Given the description of an element on the screen output the (x, y) to click on. 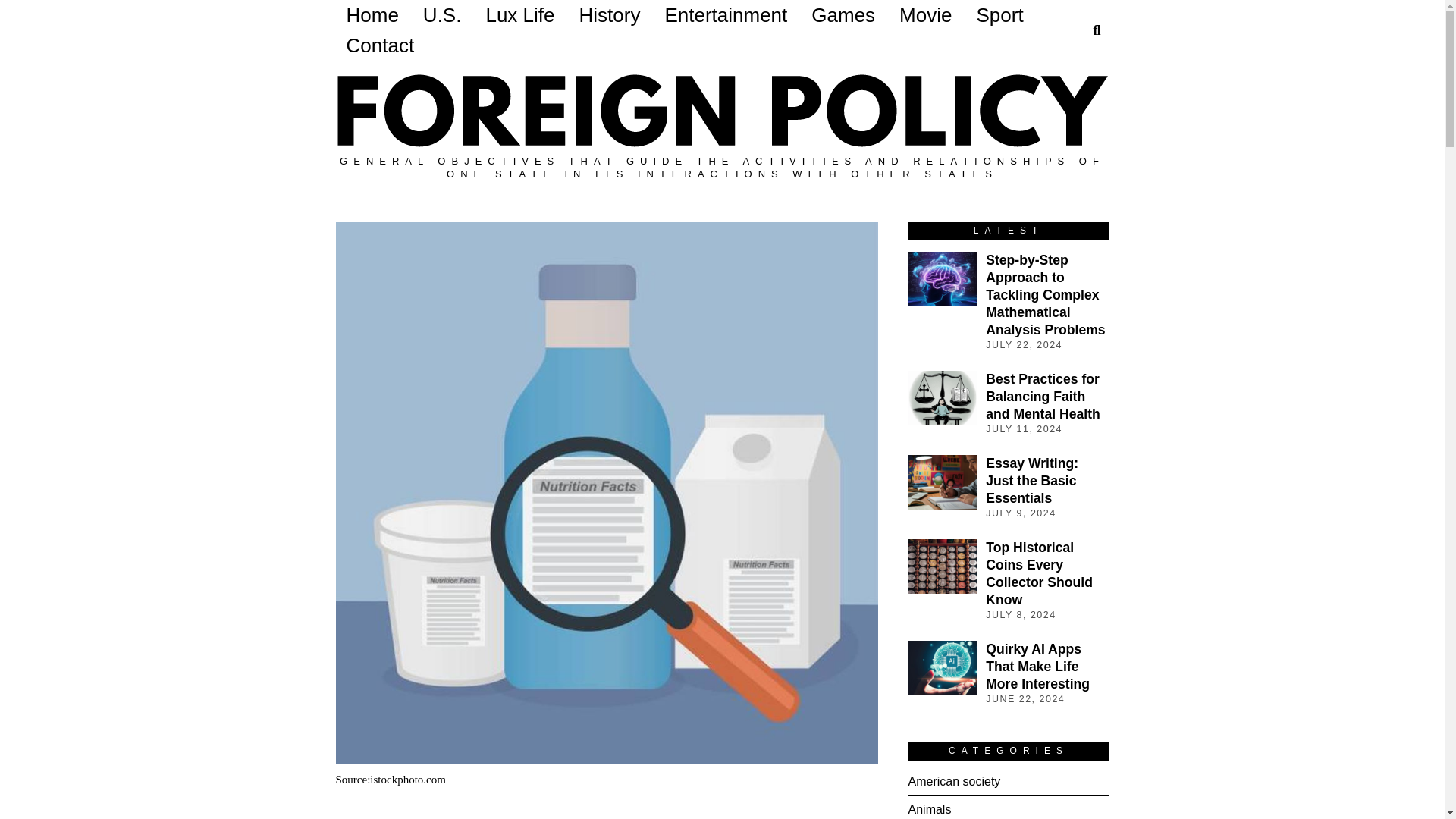
Sport (999, 15)
Games (842, 15)
Home (371, 15)
Contact (379, 45)
Lux Life (519, 15)
Movie (925, 15)
History (609, 15)
U.S. (441, 15)
Entertainment (725, 15)
